Given the description of an element on the screen output the (x, y) to click on. 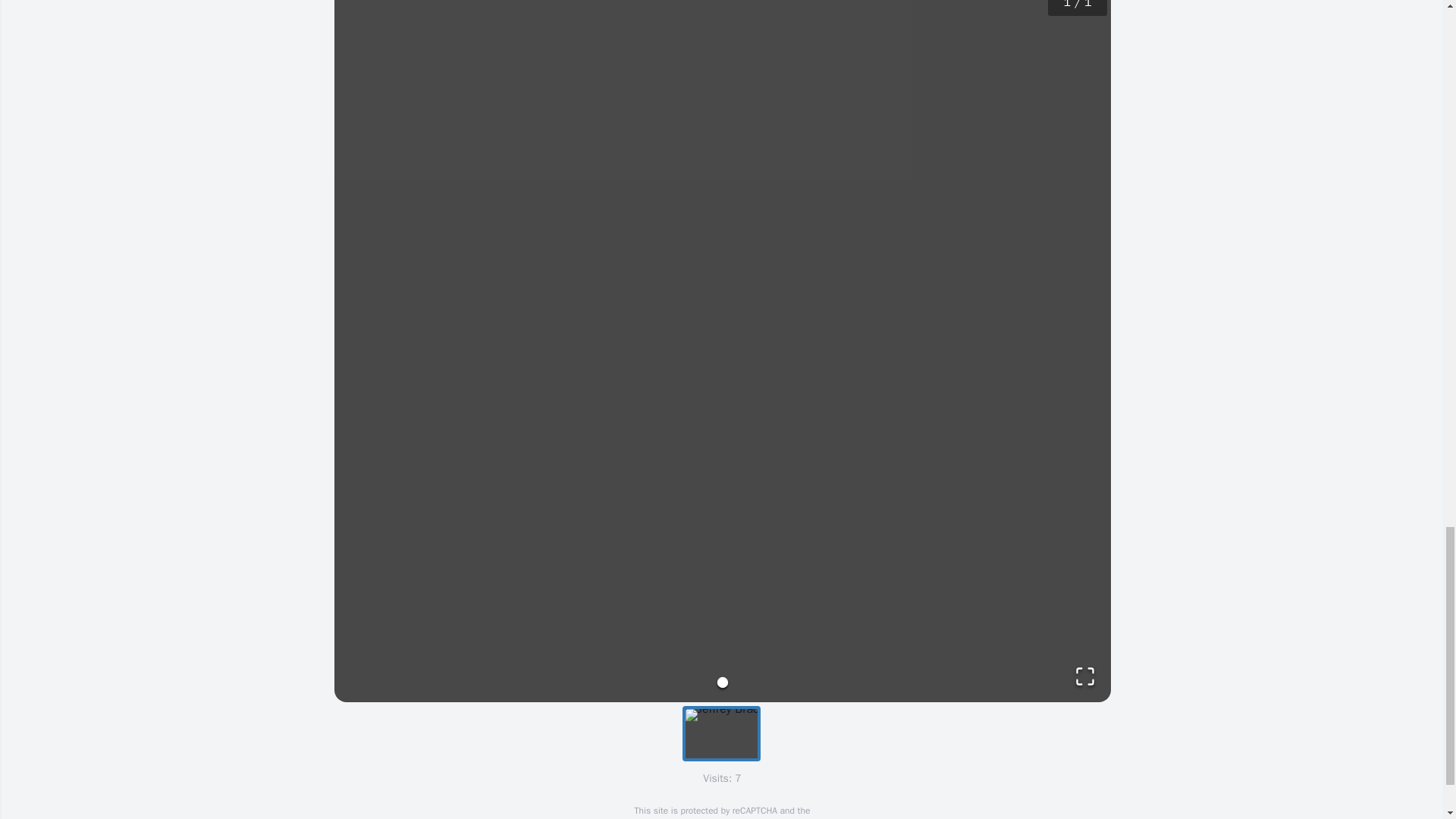
Terms of Service (759, 817)
Privacy Policy (679, 817)
